Given the description of an element on the screen output the (x, y) to click on. 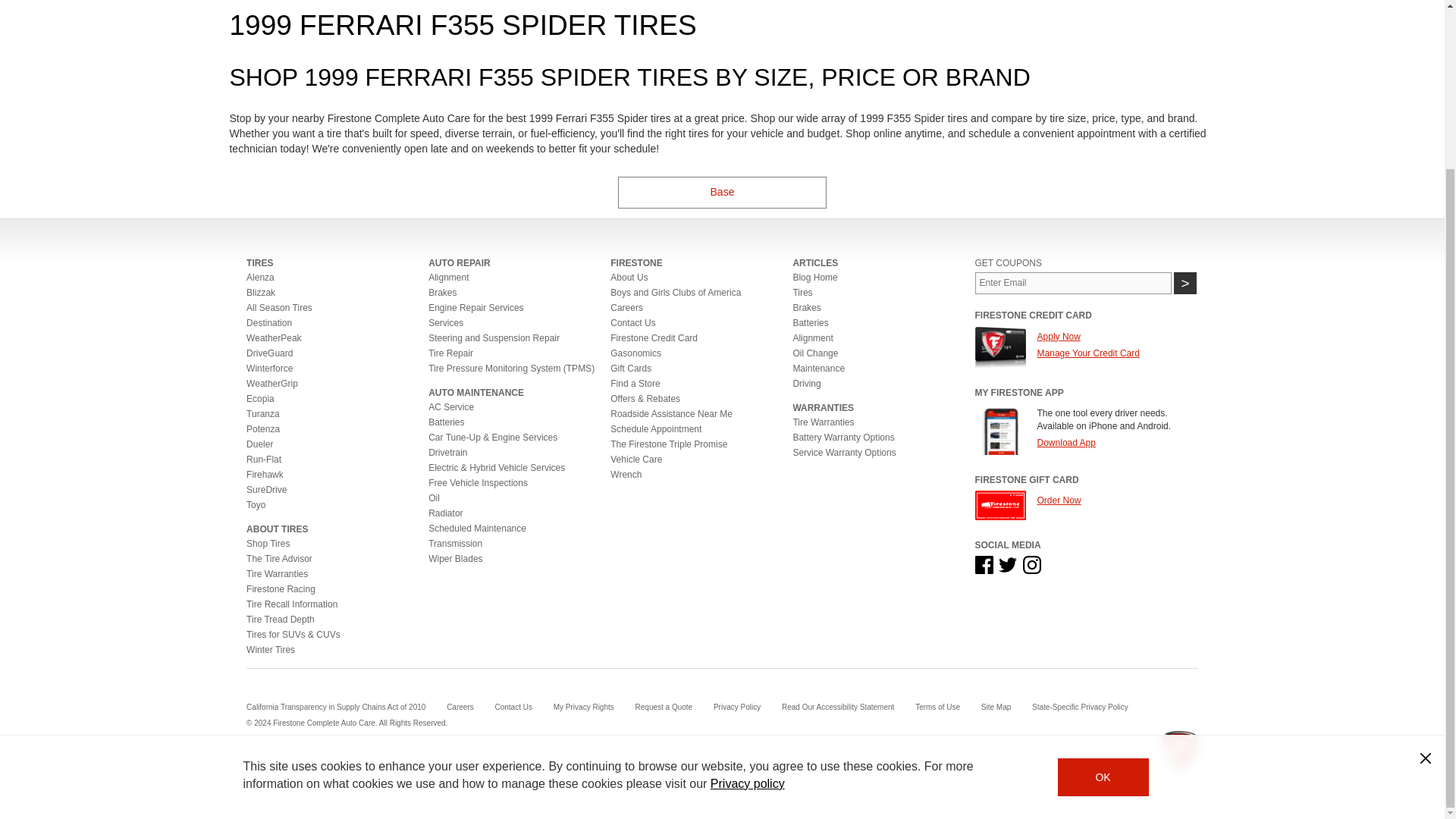
Privacy policy (747, 581)
agree button (1102, 574)
Instagram (1032, 565)
Enter Email (1073, 282)
Twitter (1007, 565)
Facebook (983, 565)
close button (1425, 555)
